Given the description of an element on the screen output the (x, y) to click on. 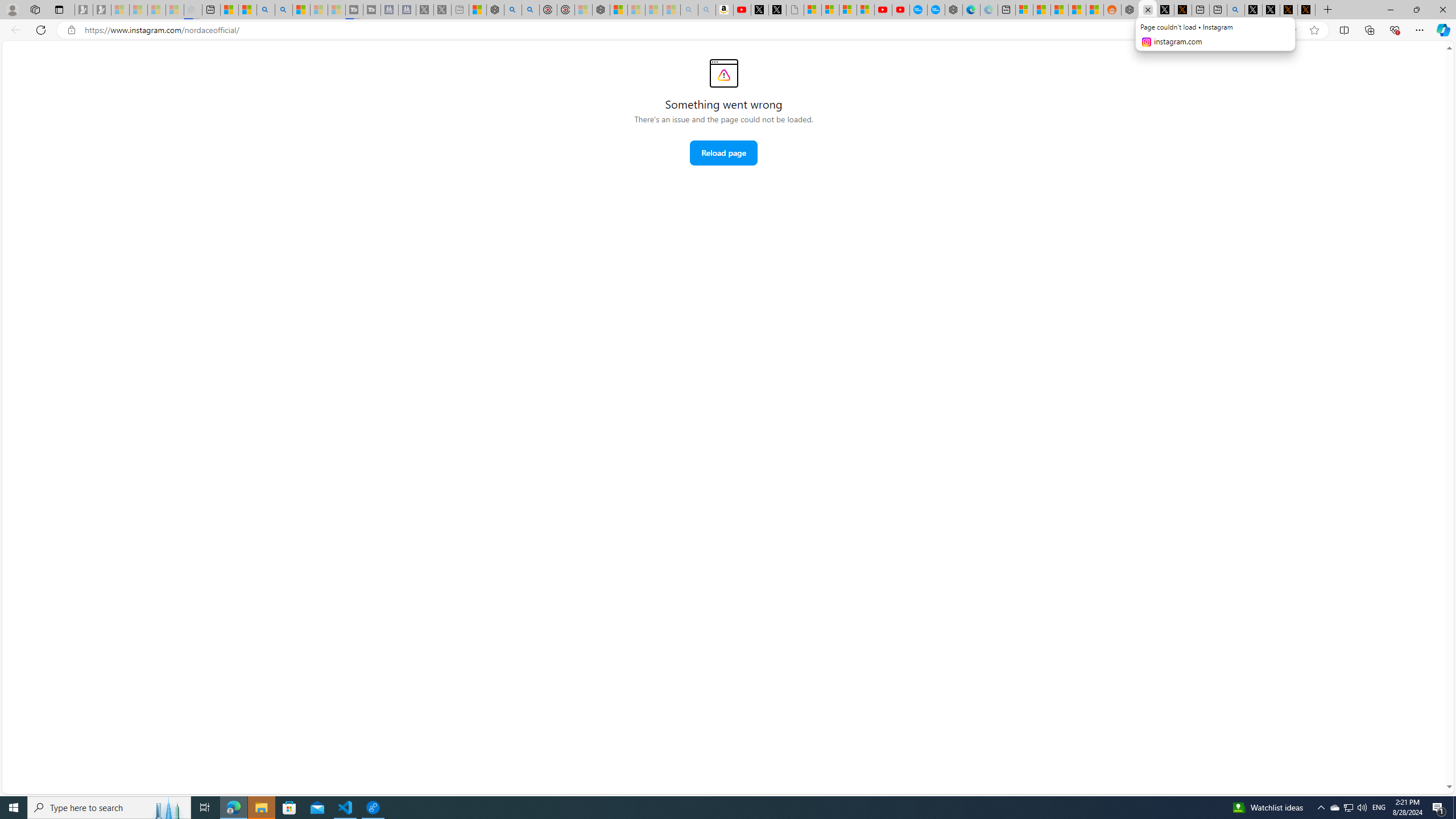
Newsletter Sign Up - Sleeping (102, 9)
poe ++ standard - Search (530, 9)
X Privacy Policy (1306, 9)
